Given the description of an element on the screen output the (x, y) to click on. 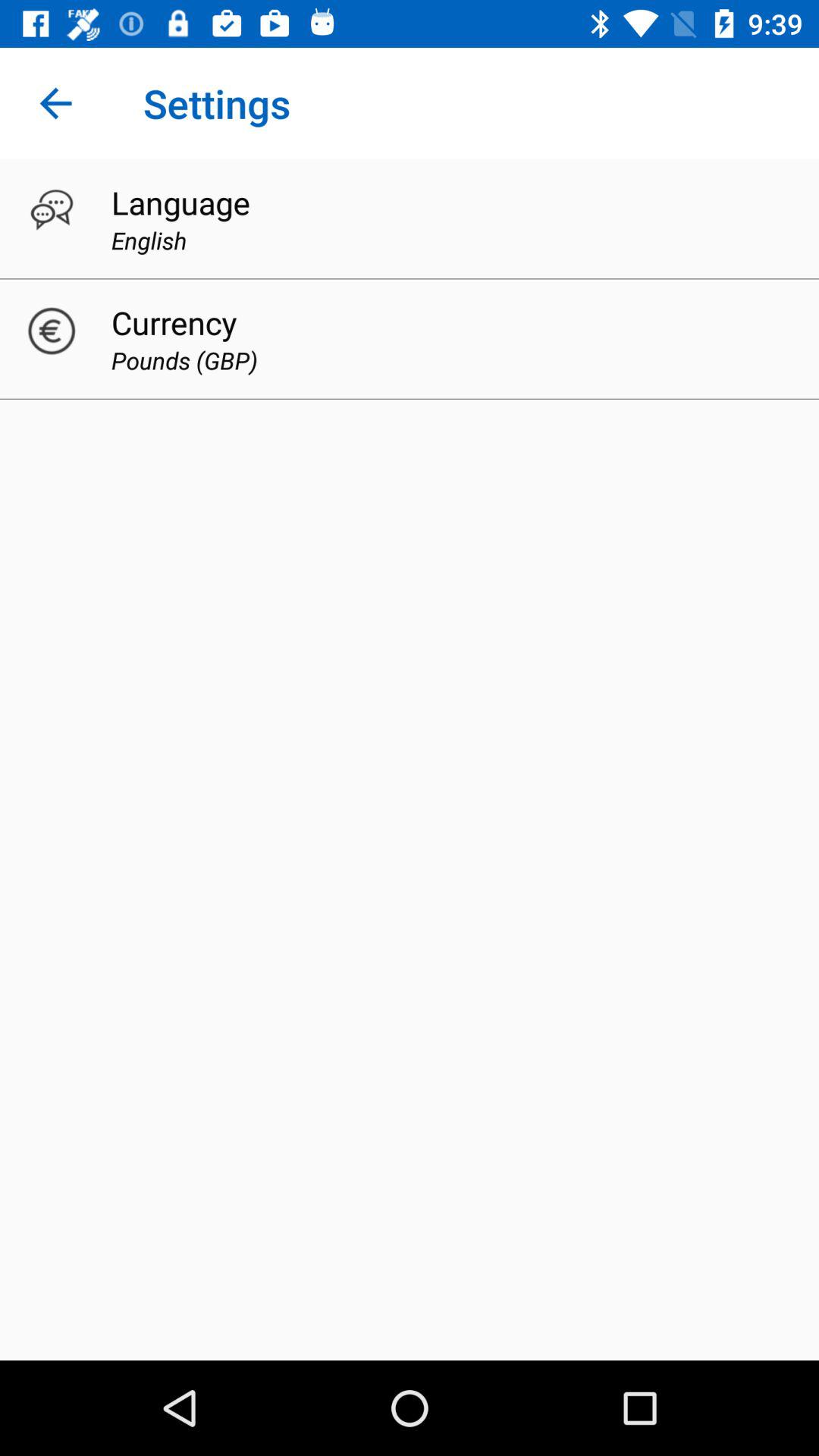
select currency item (174, 322)
